Given the description of an element on the screen output the (x, y) to click on. 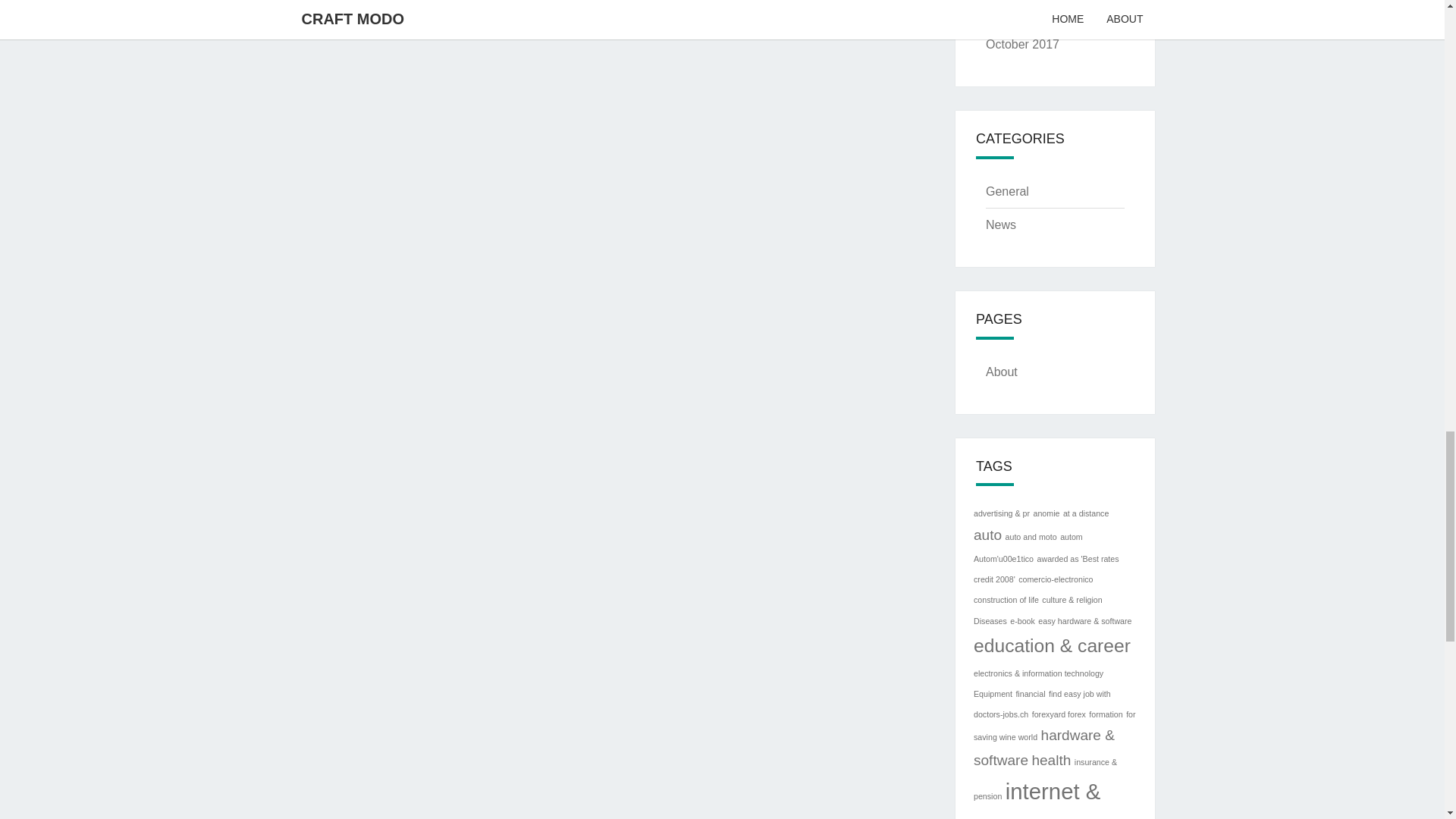
October 2017 (1022, 43)
December 2017 (1028, 10)
auto (987, 534)
at a distance (1085, 512)
auto and moto (1031, 536)
About (1001, 371)
anomie (1045, 512)
News (1000, 224)
General (1007, 191)
